Given the description of an element on the screen output the (x, y) to click on. 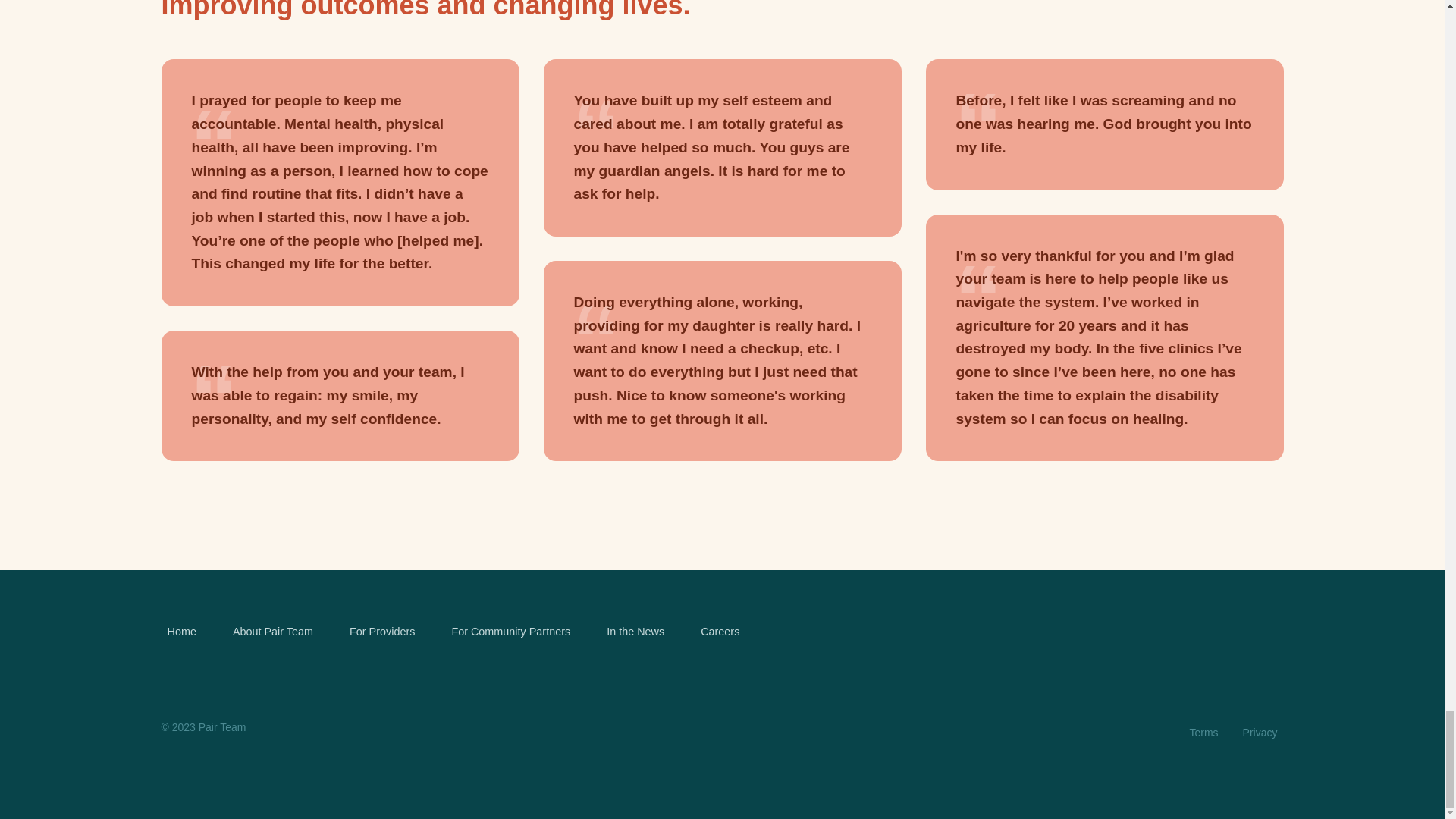
About Pair Team (272, 632)
For Community Partners (510, 632)
Home (181, 632)
Privacy (1260, 732)
In the News (634, 632)
Terms (1203, 732)
Careers (719, 632)
For Providers (381, 632)
